Given the description of an element on the screen output the (x, y) to click on. 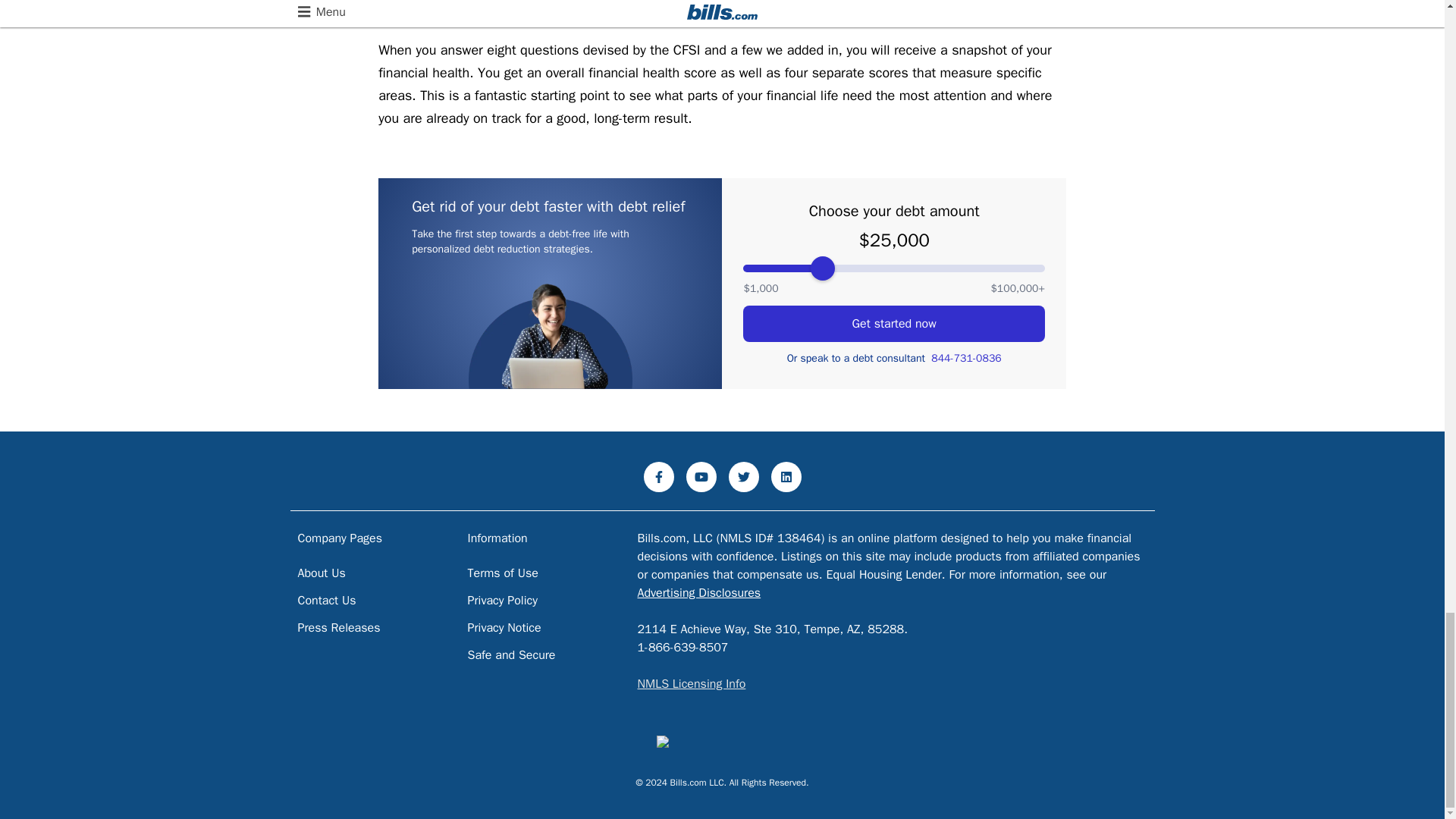
25000 (892, 267)
